Given the description of an element on the screen output the (x, y) to click on. 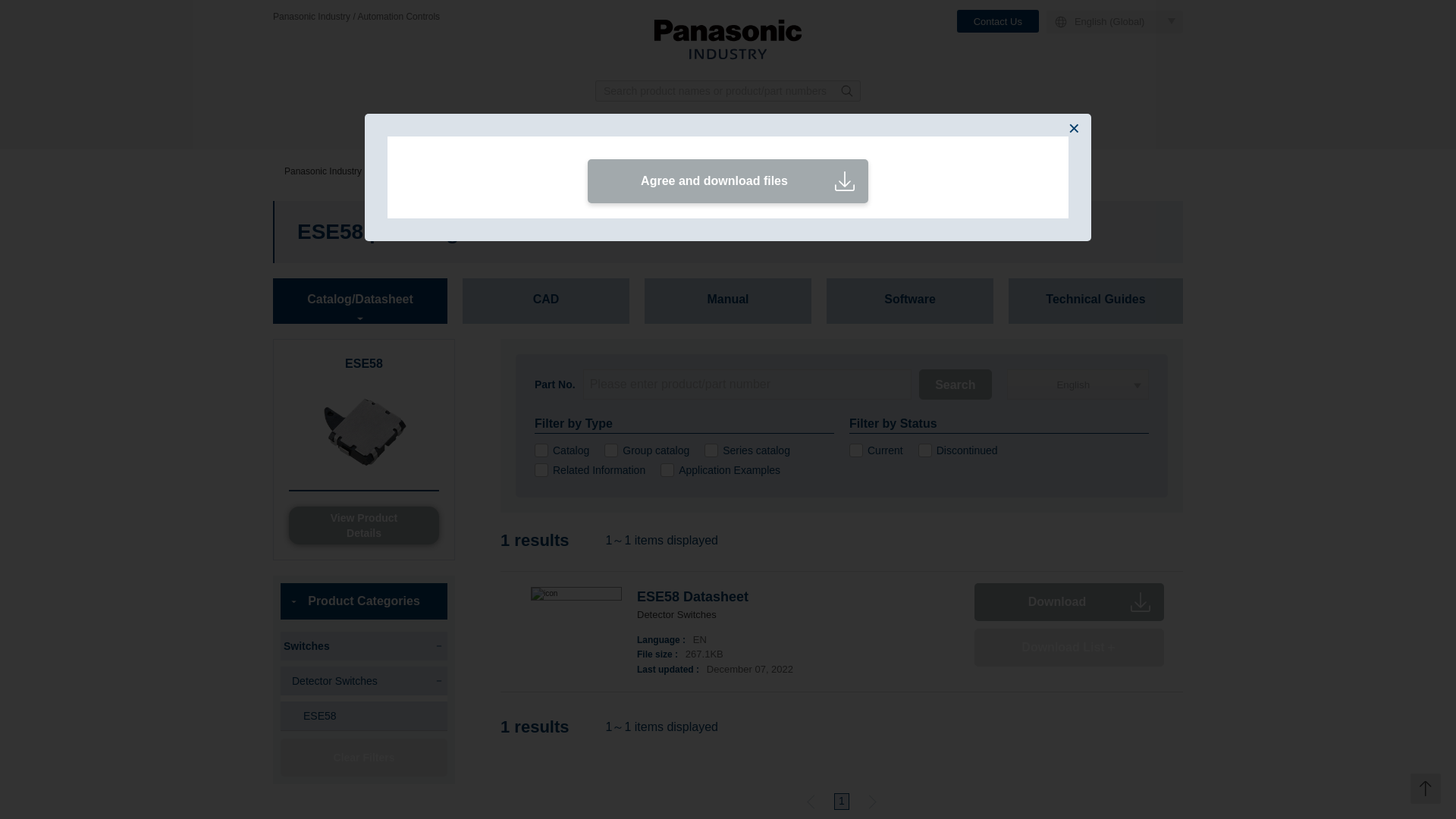
Search (954, 384)
Contact Us (997, 20)
